Given the description of an element on the screen output the (x, y) to click on. 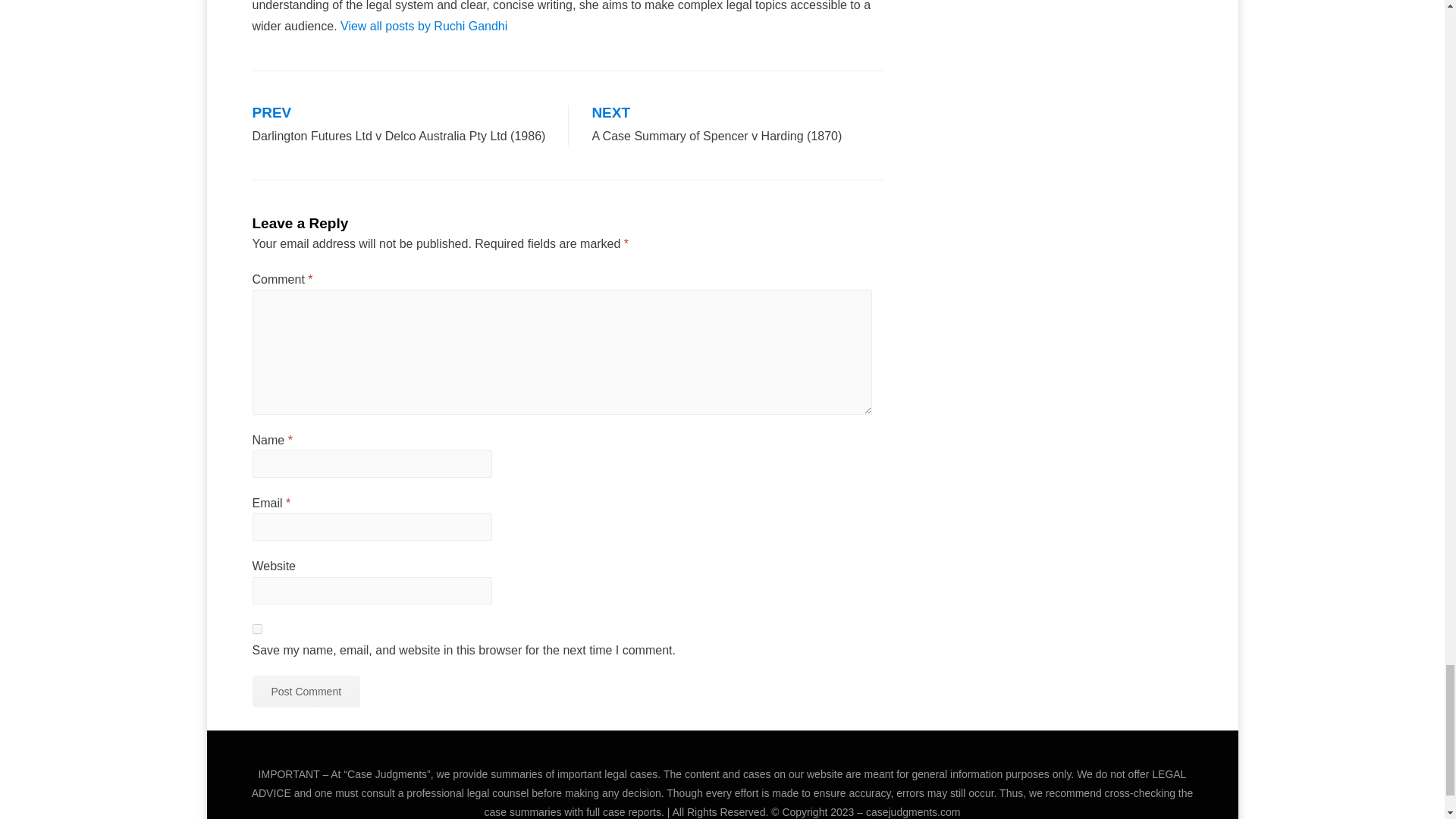
Post Comment (305, 691)
View all posts by Ruchi Gandhi (423, 25)
Post Comment (305, 691)
yes (256, 628)
